Given the description of an element on the screen output the (x, y) to click on. 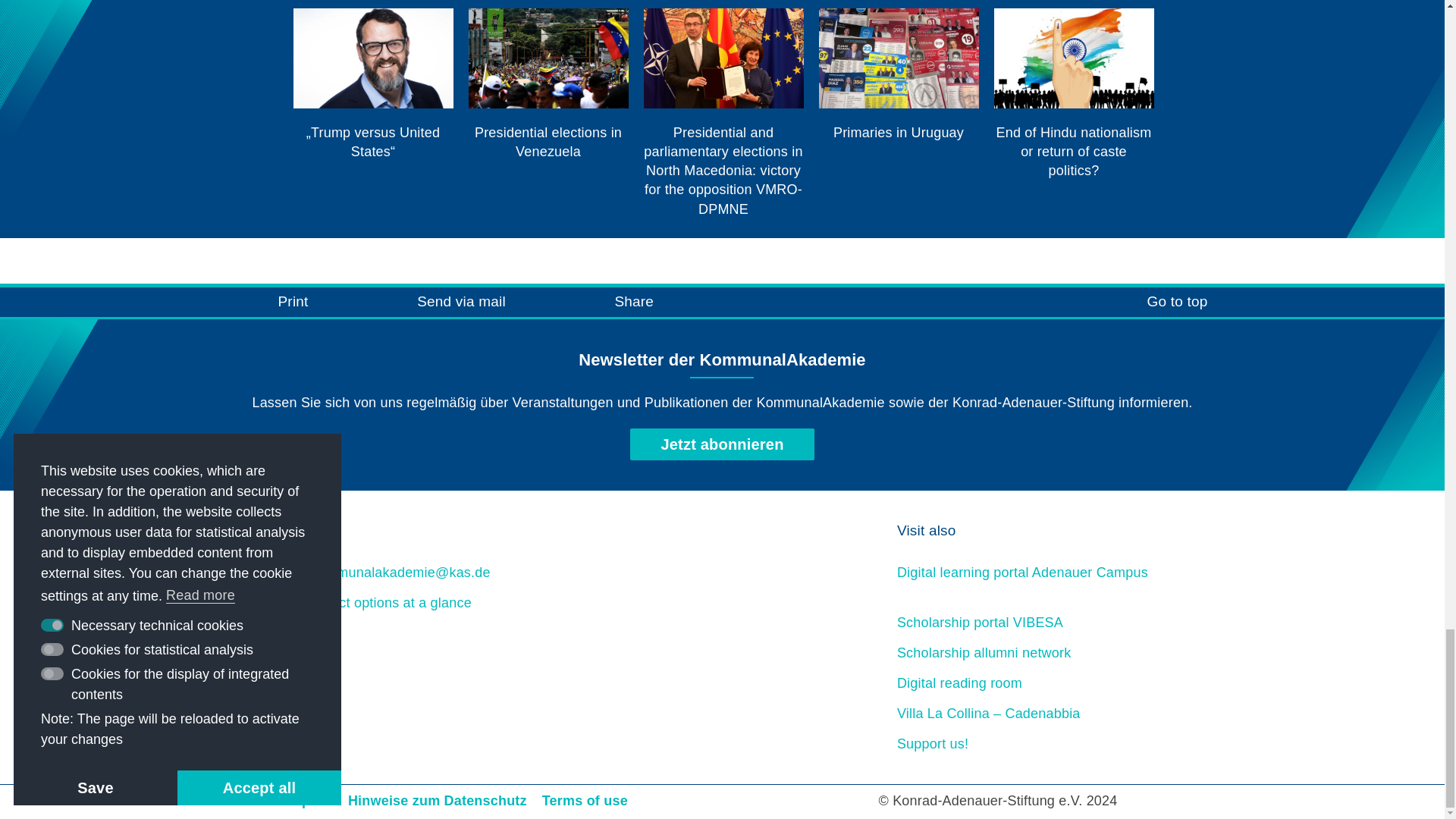
Presidential elections in Venezuela (548, 84)
